Given the description of an element on the screen output the (x, y) to click on. 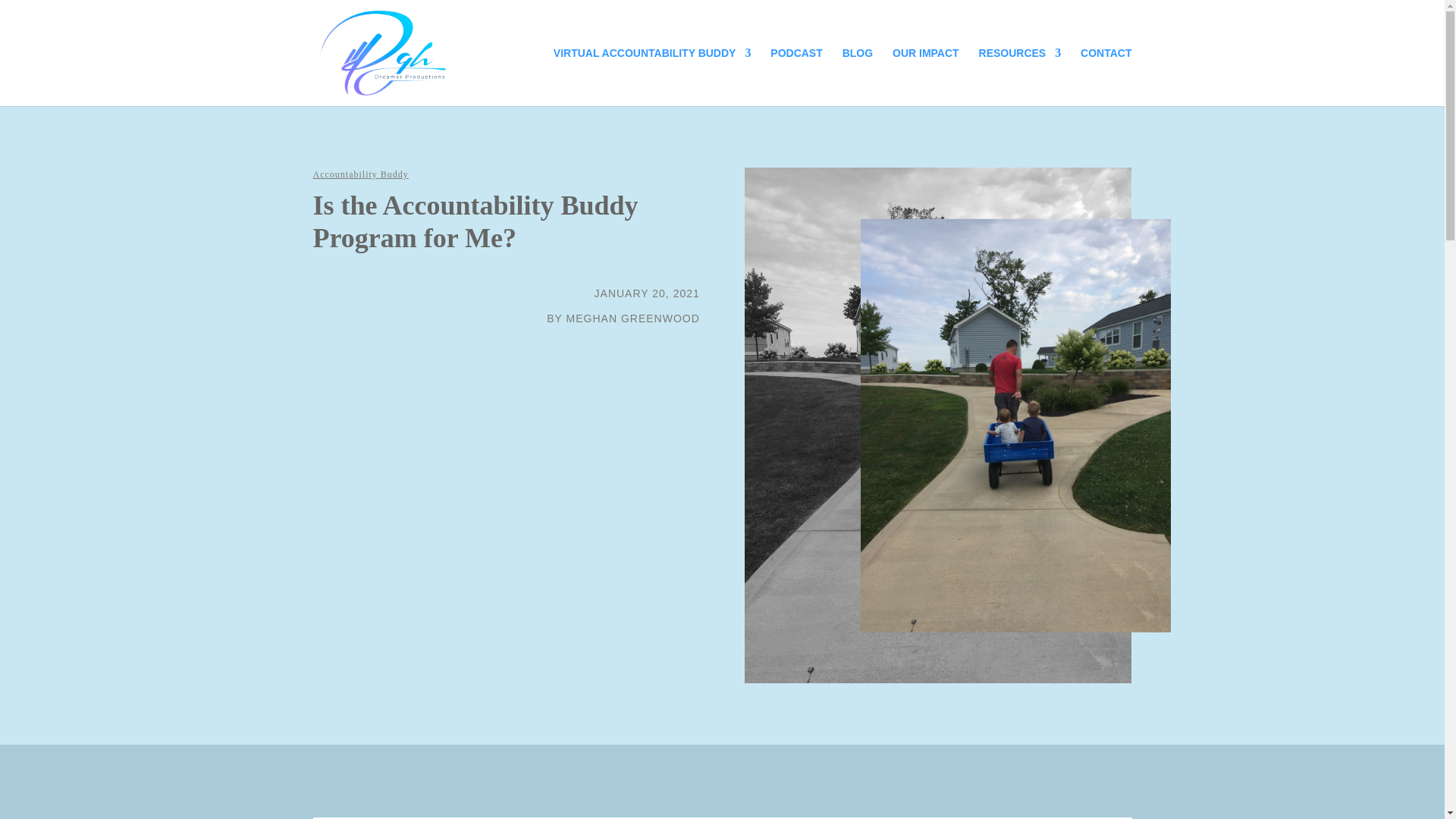
PODCAST (796, 76)
RESOURCES (1019, 76)
BLOG (857, 76)
CONTACT (1105, 76)
Accountability Buddy (360, 173)
OUR IMPACT (925, 76)
fashion-designer-13 (1015, 425)
VIRTUAL ACCOUNTABILITY BUDDY (652, 76)
